Given the description of an element on the screen output the (x, y) to click on. 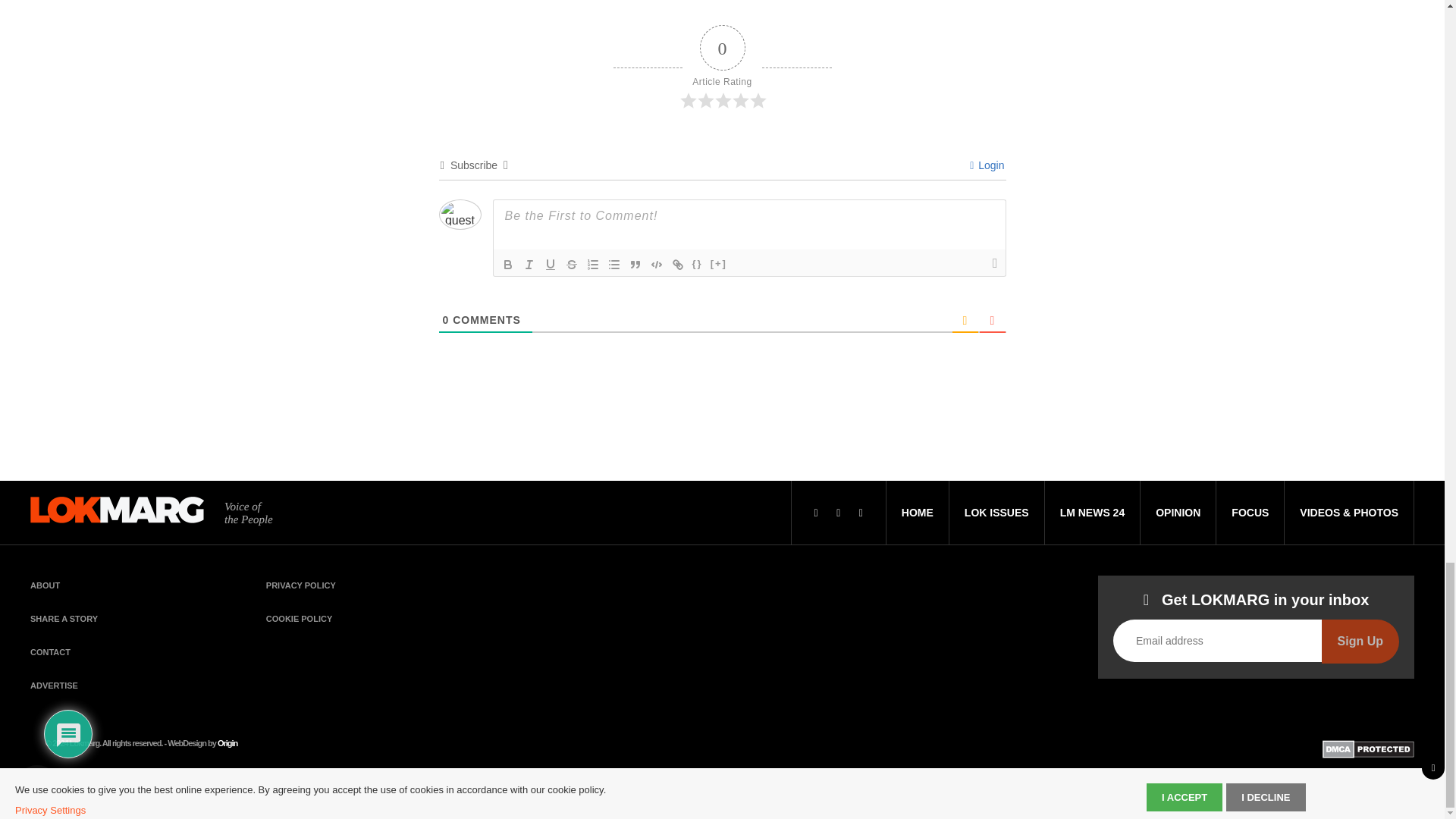
Login (986, 164)
Sign Up (1360, 641)
